Given the description of an element on the screen output the (x, y) to click on. 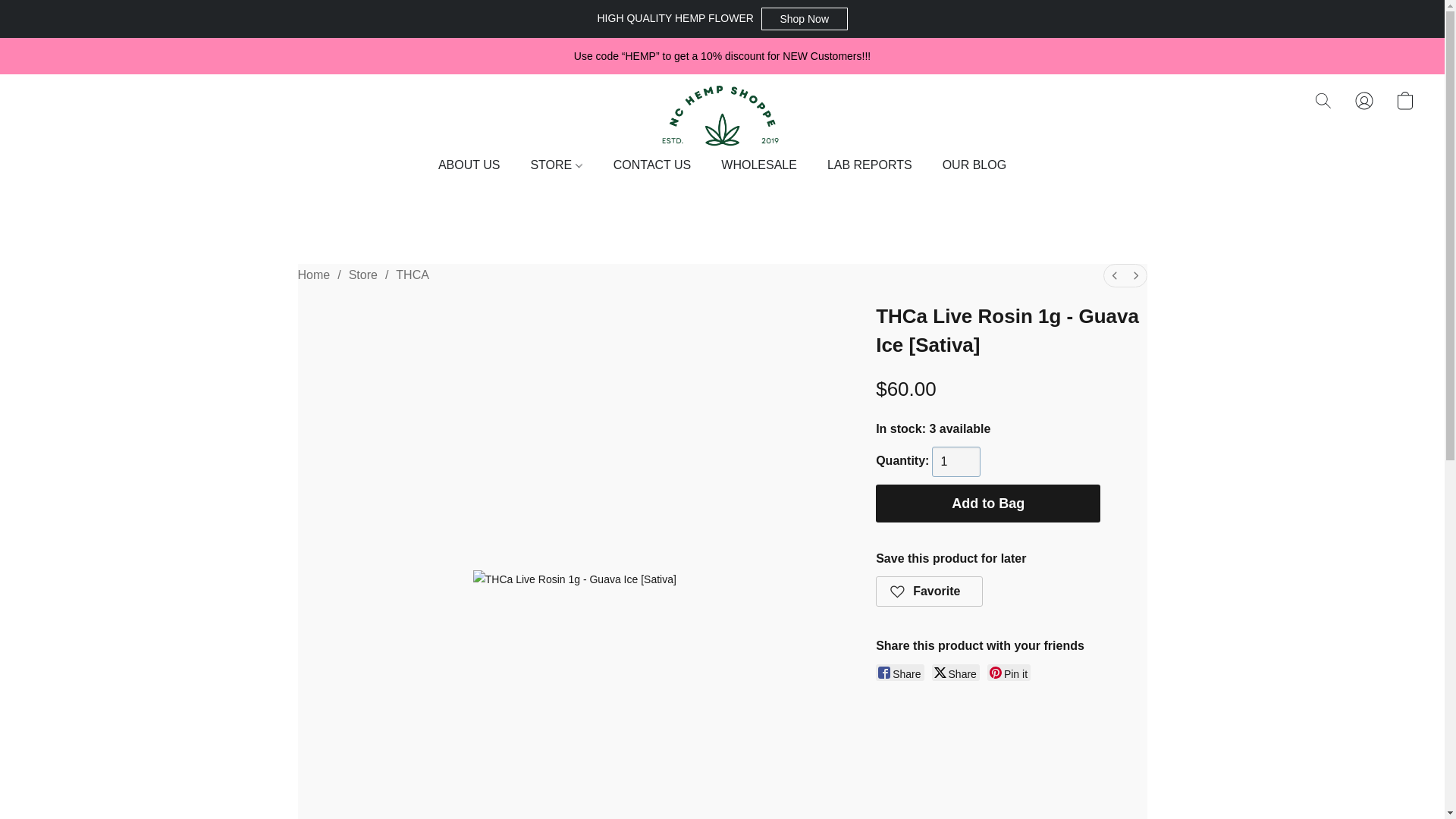
CONTACT US (652, 164)
Pin it (1008, 672)
Share (955, 672)
Go to your shopping cart (1404, 100)
THCA (412, 274)
Add to Bag (988, 503)
Shop Now (804, 18)
STORE (555, 164)
Search the website (1323, 100)
Favorite (929, 591)
